Given the description of an element on the screen output the (x, y) to click on. 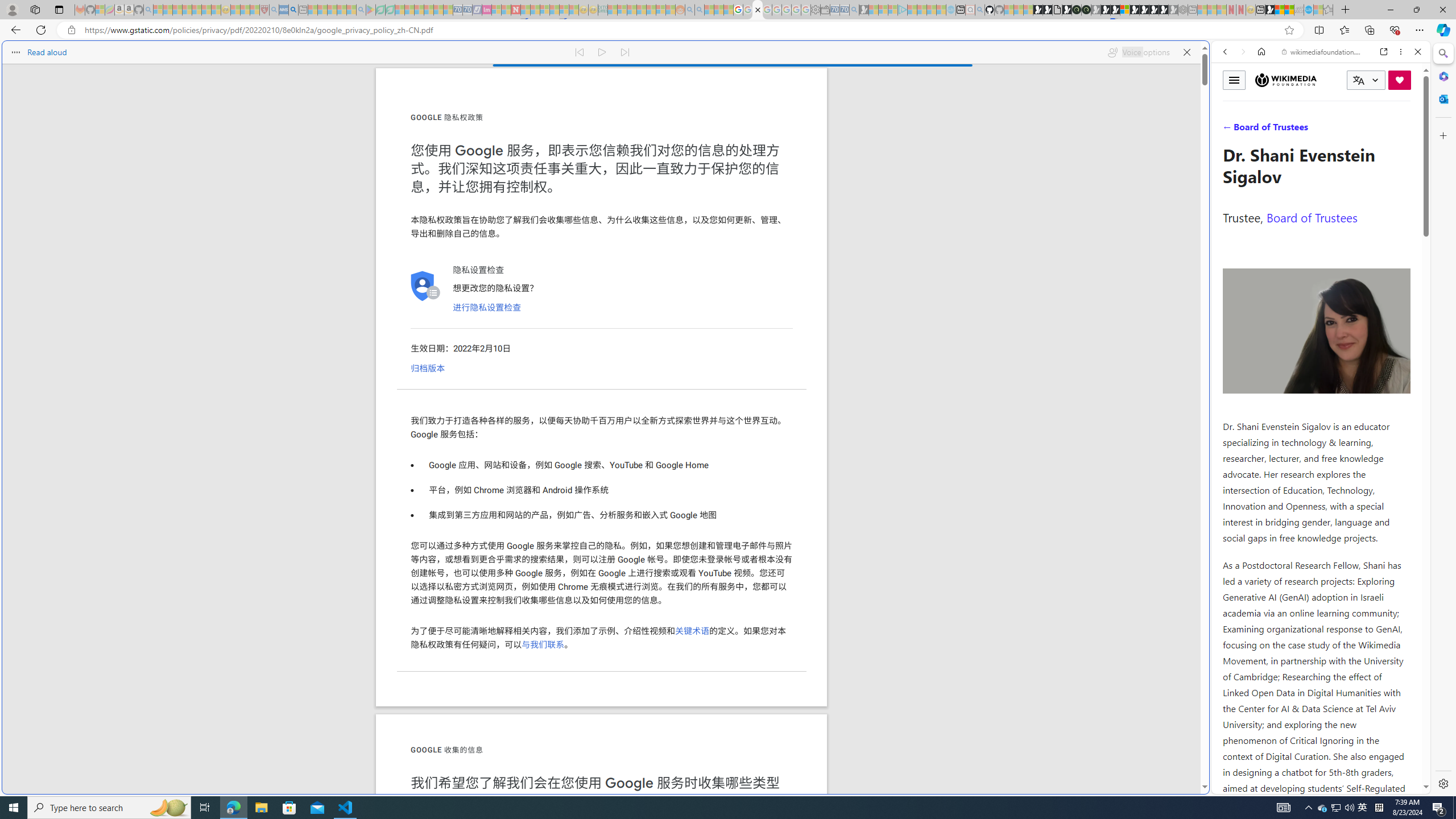
Search or enter web address (922, 108)
Future Focus Report 2024 (1085, 9)
